Given the description of an element on the screen output the (x, y) to click on. 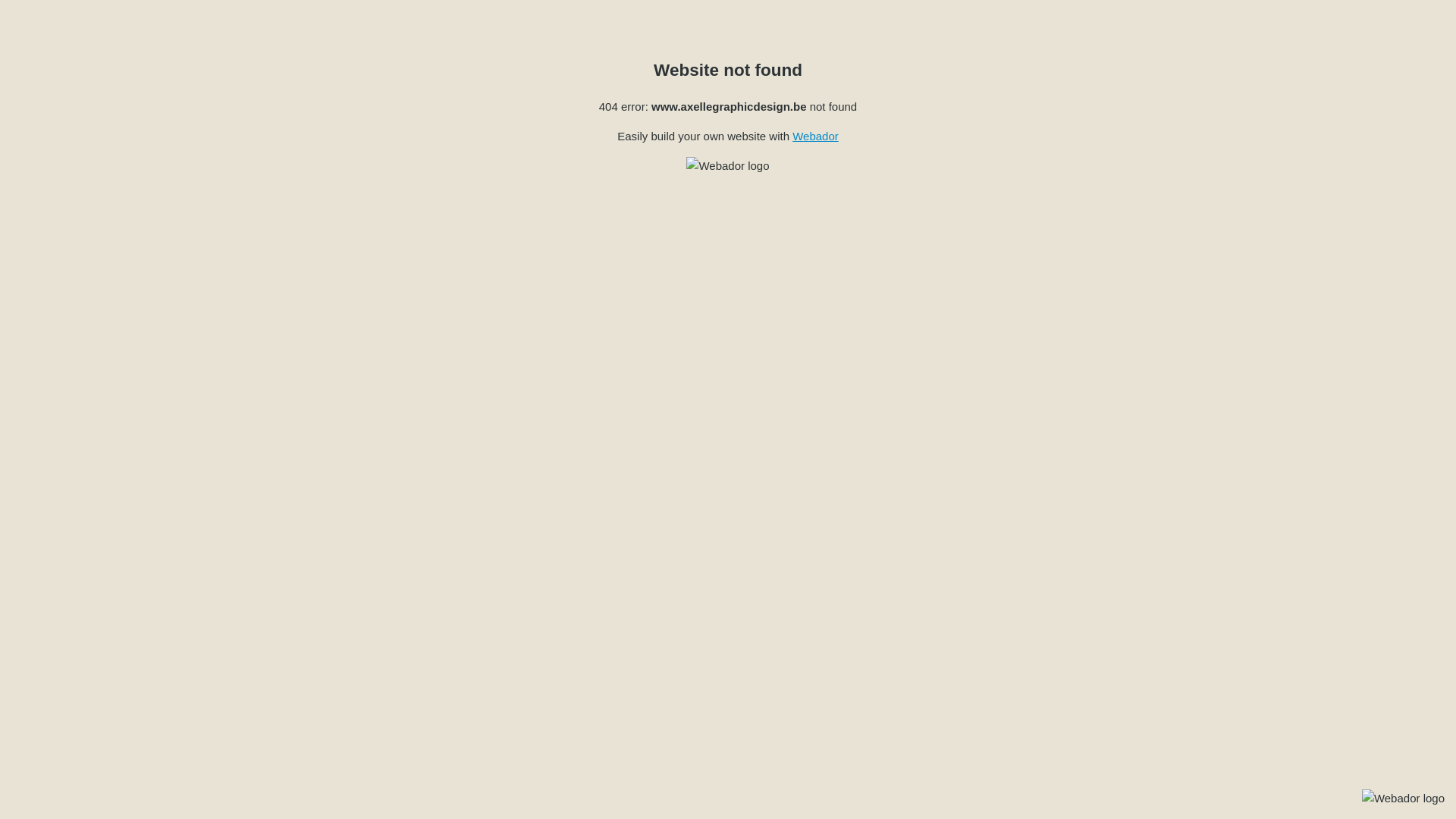
Webador Element type: text (815, 135)
